Given the description of an element on the screen output the (x, y) to click on. 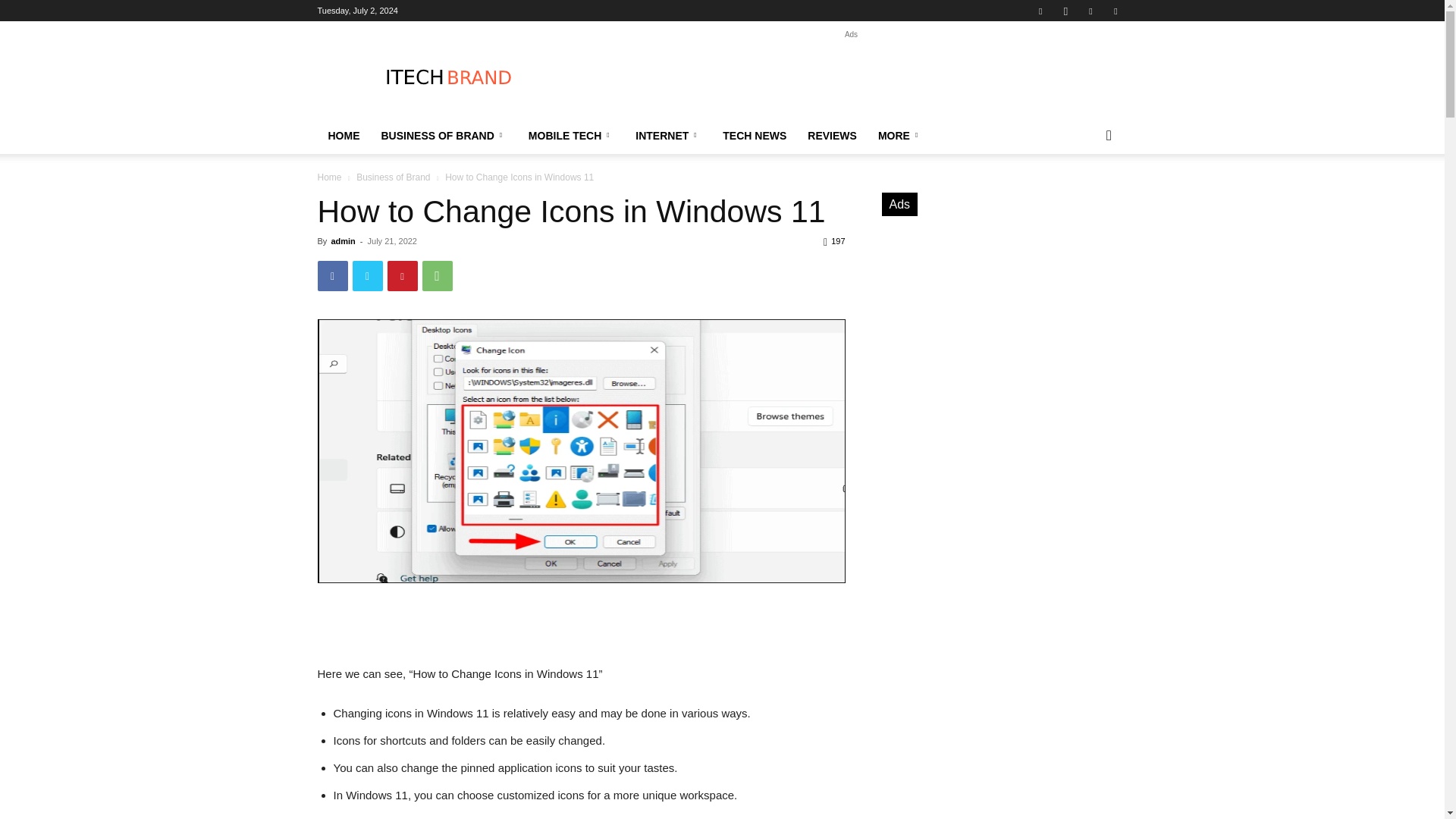
Twitter (366, 276)
Facebook (1040, 10)
Instagram (1065, 10)
WhatsApp (436, 276)
Facebook (332, 276)
Pinterest (1090, 10)
Twitter (1114, 10)
Pinterest (401, 276)
Advertisement (850, 76)
View all posts in Business of Brand (392, 176)
